Given the description of an element on the screen output the (x, y) to click on. 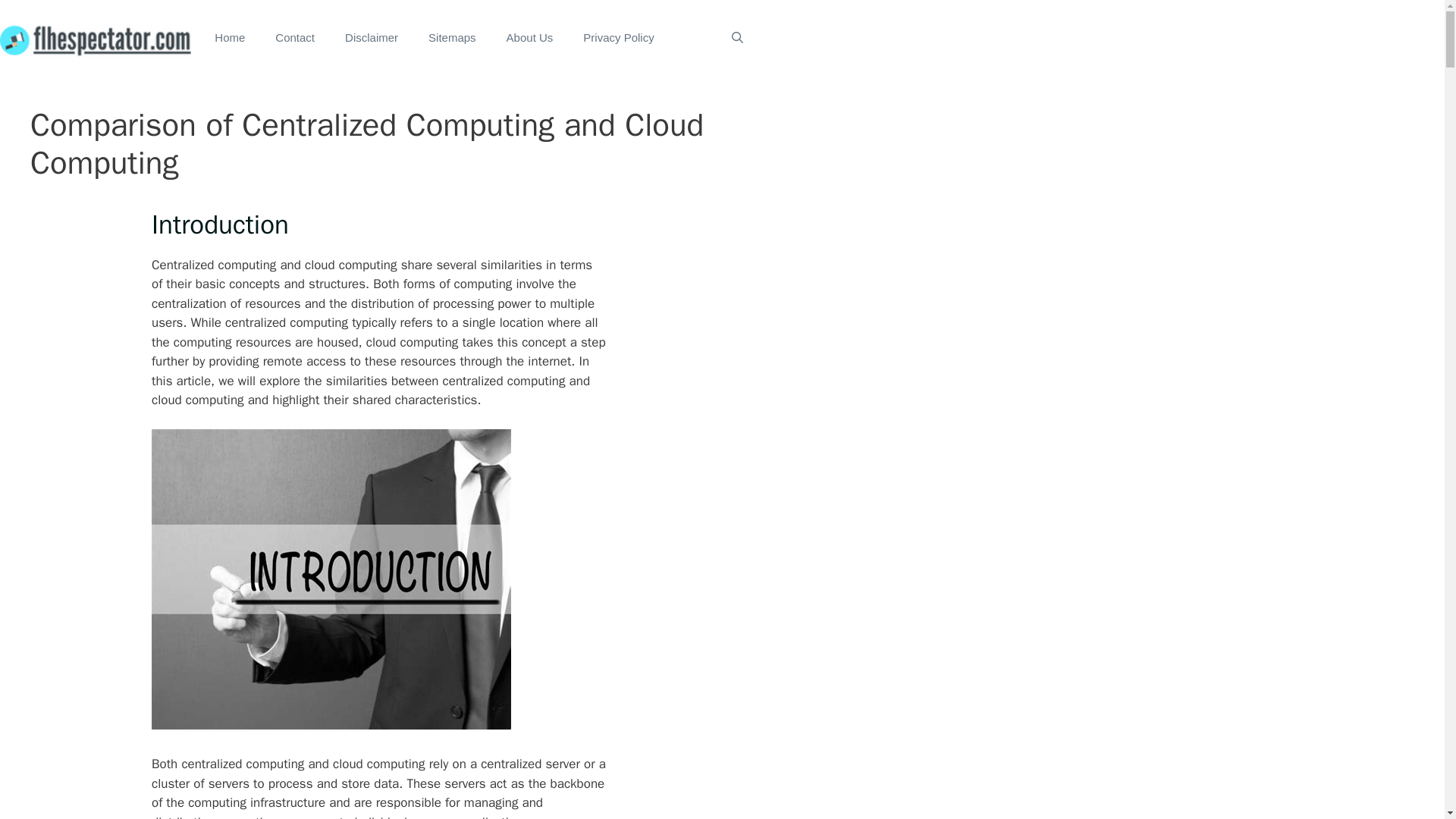
Disclaimer (371, 37)
Home (229, 37)
FLHE Spectator (96, 38)
Contact (295, 37)
About Us (530, 37)
Privacy Policy (617, 37)
Sitemaps (452, 37)
